Given the description of an element on the screen output the (x, y) to click on. 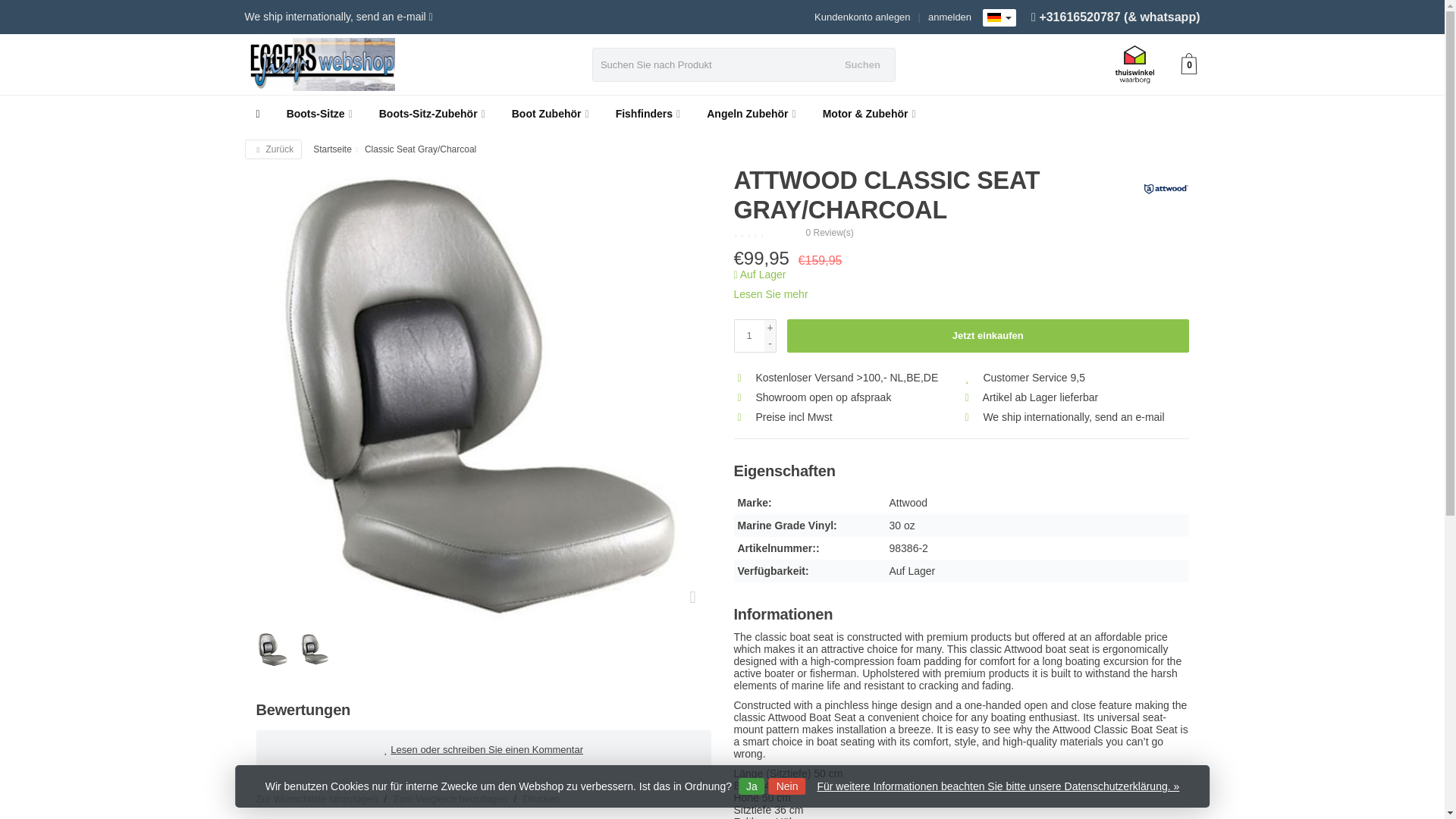
anmelden (949, 16)
0 (1188, 64)
Ihr Warenkorb (1188, 64)
Mein Konto (949, 16)
1 (748, 335)
Boots-Sitze (319, 113)
Suchen (861, 64)
Boots-Sitze (319, 113)
Kundenkonto anlegen (862, 16)
Kundenkonto anlegen (862, 16)
Fishfinders (648, 113)
